Given the description of an element on the screen output the (x, y) to click on. 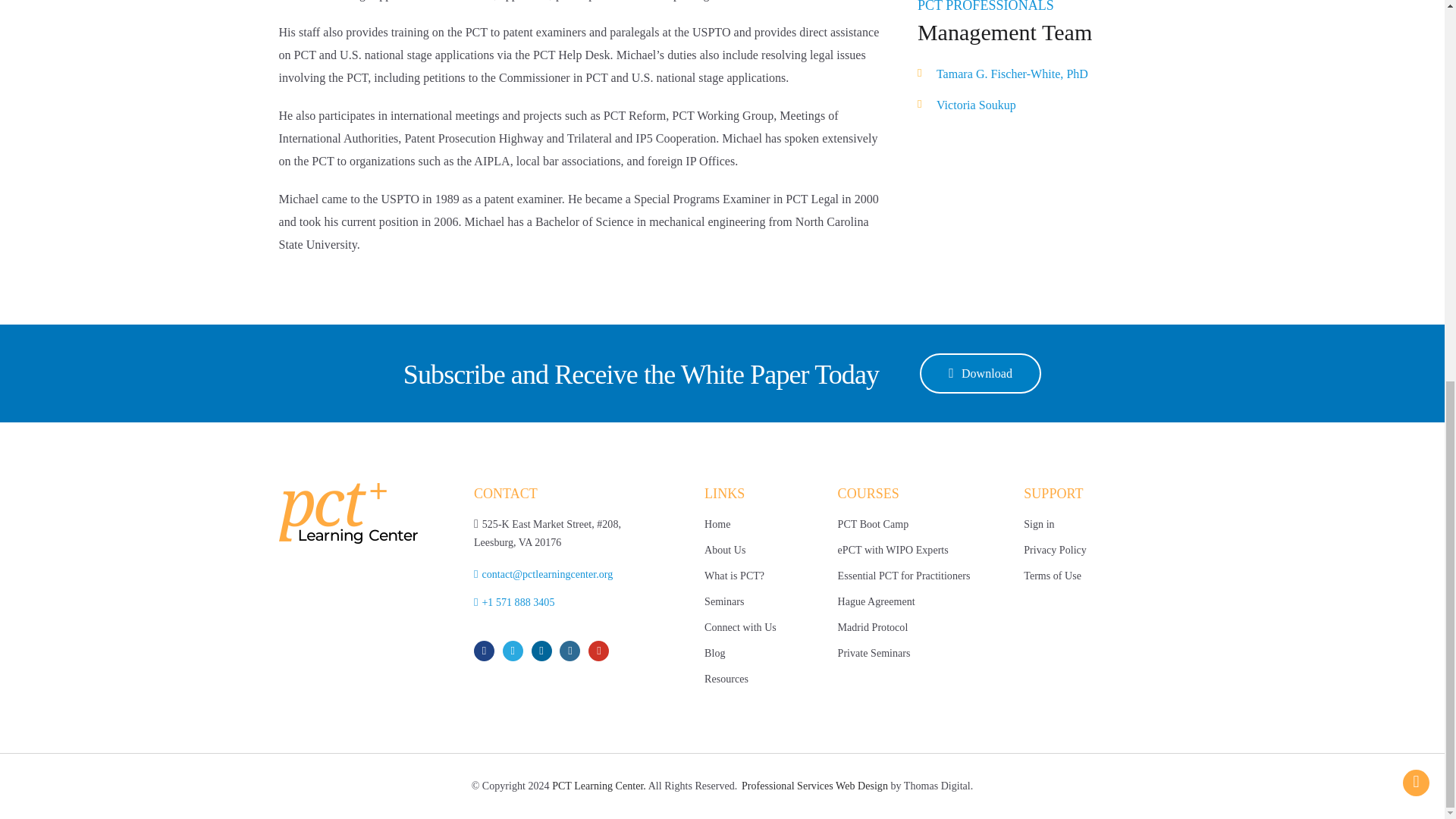
Facebook (486, 650)
Tamara G. Fischer-White, PhD (1041, 74)
Download (980, 372)
Instagram (572, 650)
YouTube (601, 650)
Scroll to Top (1416, 70)
Twitter (515, 650)
Facebook (486, 650)
LinkedIn (544, 650)
Twitter (515, 650)
